Given the description of an element on the screen output the (x, y) to click on. 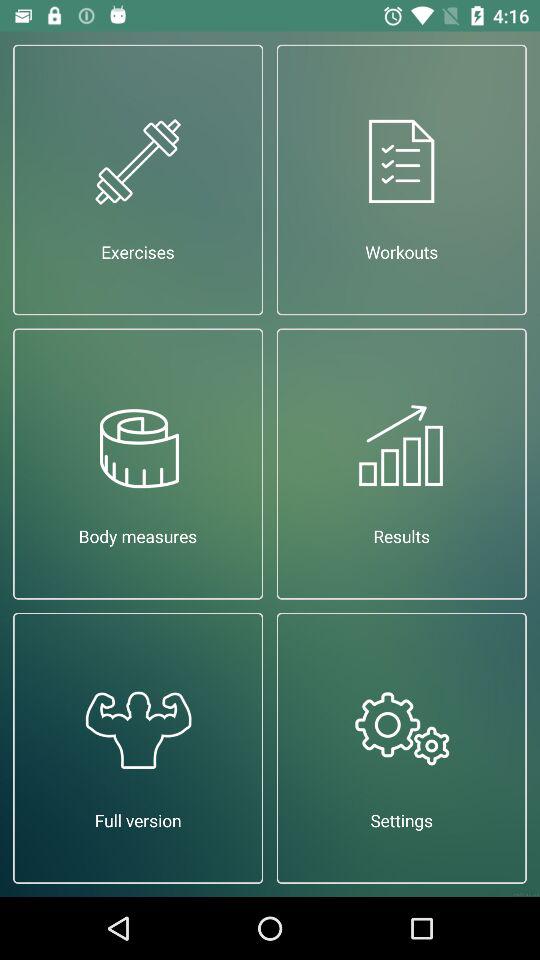
tap the app above full version app (137, 463)
